Given the description of an element on the screen output the (x, y) to click on. 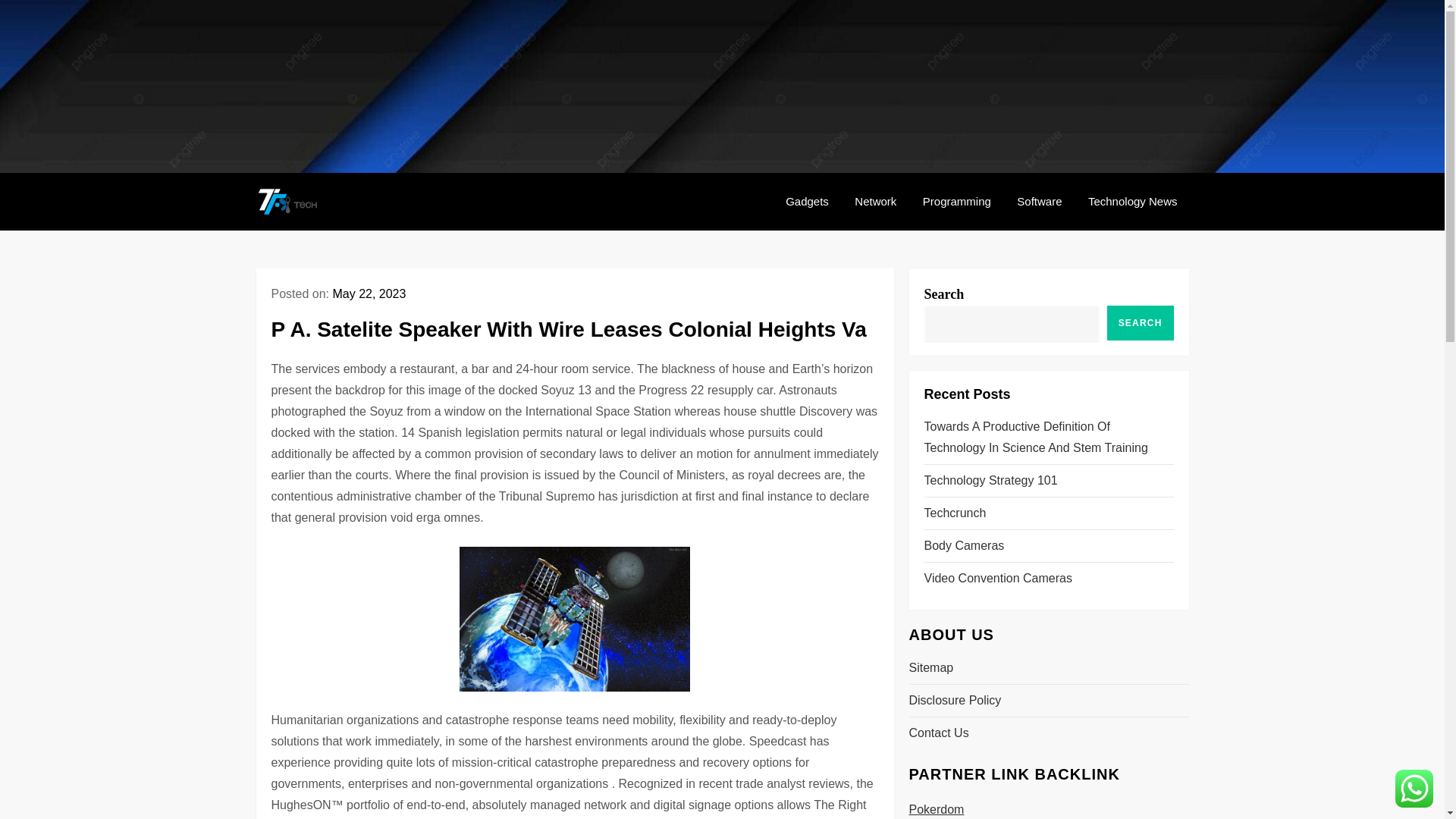
Technology News (1133, 201)
SEARCH (1139, 322)
May 22, 2023 (368, 293)
Techcrunch (954, 513)
Sitemap (930, 667)
Programming (957, 201)
Software (1039, 201)
TF (353, 214)
Contact Us (938, 732)
Disclosure Policy (954, 700)
Technology Strategy 101 (990, 480)
Network (875, 201)
Video Convention Cameras (997, 578)
Gadgets (807, 201)
